Given the description of an element on the screen output the (x, y) to click on. 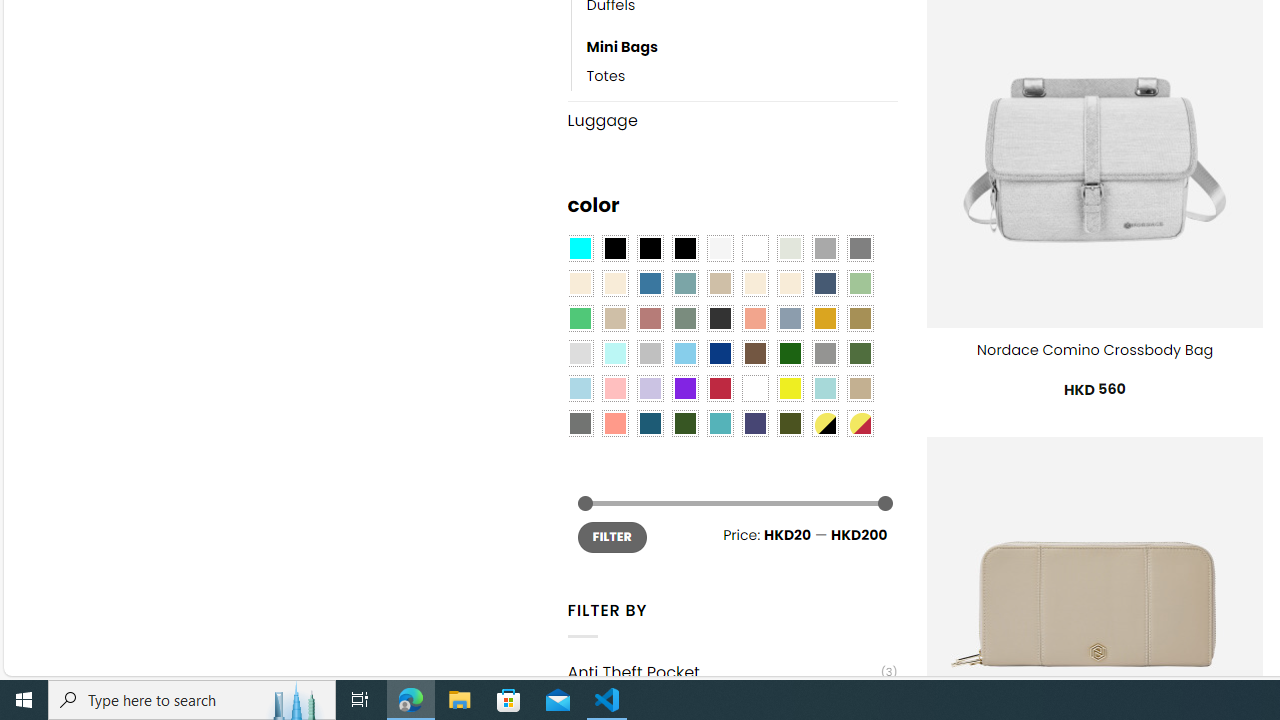
Light Gray (579, 354)
Anti Theft Pocket (723, 672)
FILTER (612, 536)
Totes (742, 76)
Rose (650, 318)
Gray (824, 354)
Ash Gray (789, 249)
Beige (579, 283)
Navy Blue (719, 354)
Luggage (732, 120)
Purple (684, 388)
Peach Pink (614, 424)
Light Taupe (614, 318)
Khaki (859, 388)
Mini Bags (742, 48)
